Given the description of an element on the screen output the (x, y) to click on. 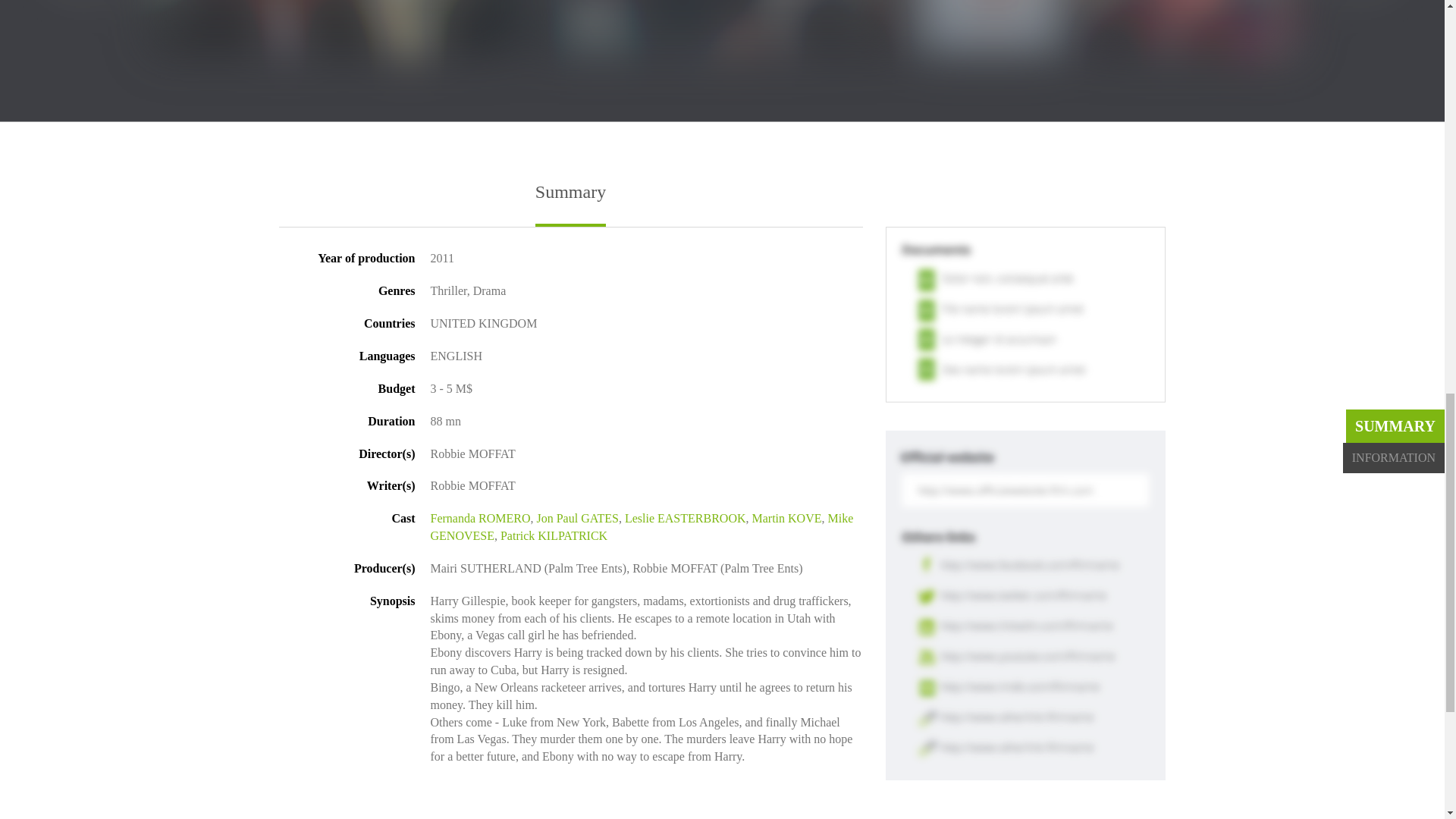
Jon Paul GATES (576, 517)
Martin KOVE (786, 517)
Patrick KILPATRICK (553, 535)
Fernanda ROMERO (480, 517)
Summary (570, 204)
Leslie EASTERBROOK (684, 517)
Mike GENOVESE (641, 526)
